Given the description of an element on the screen output the (x, y) to click on. 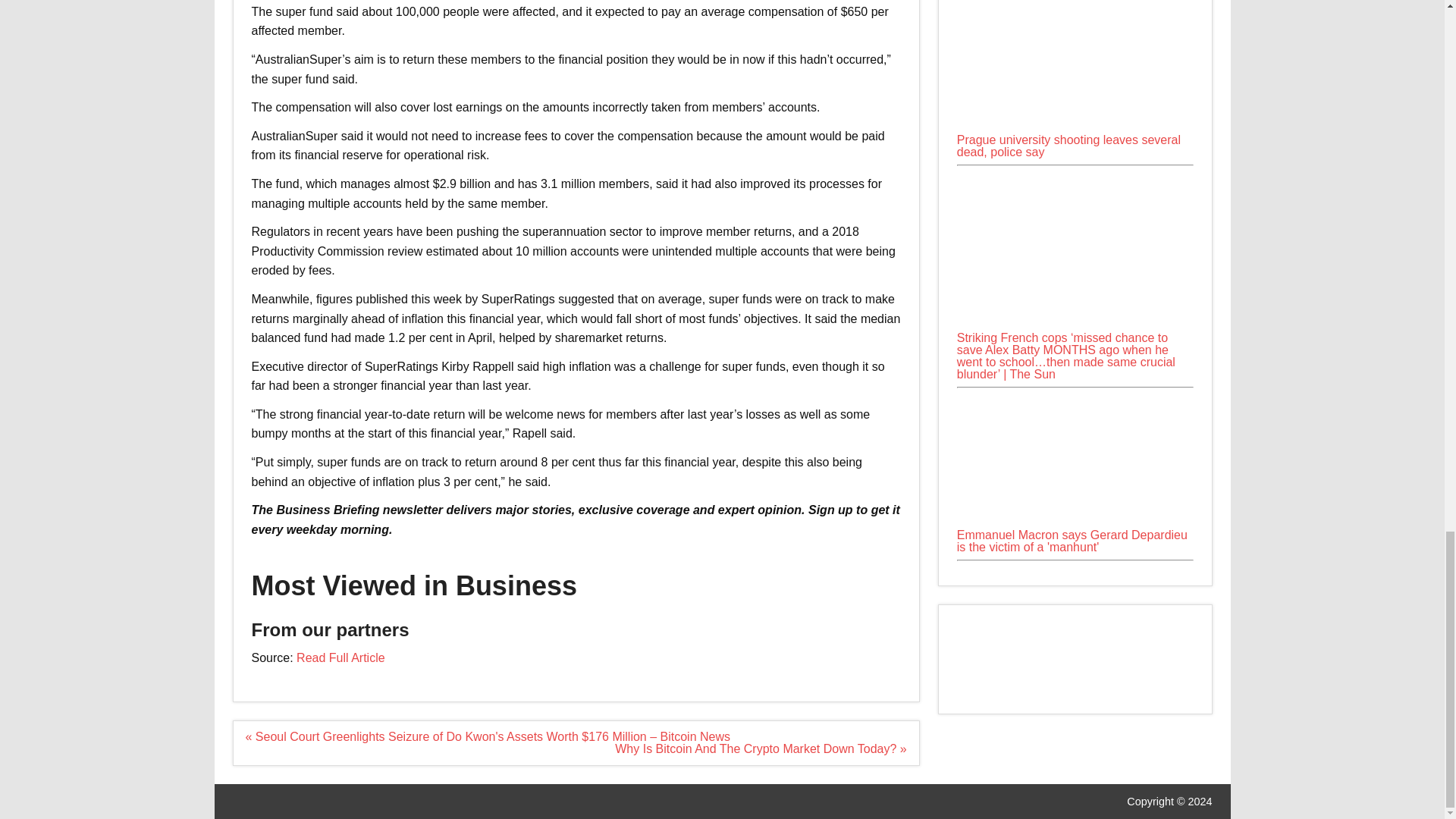
Prague university shooting leaves several dead, police say (1074, 65)
Prague university shooting leaves several dead, police say (1068, 145)
Read Full Article (341, 657)
Prague university shooting leaves several dead, police say (1074, 127)
